Given the description of an element on the screen output the (x, y) to click on. 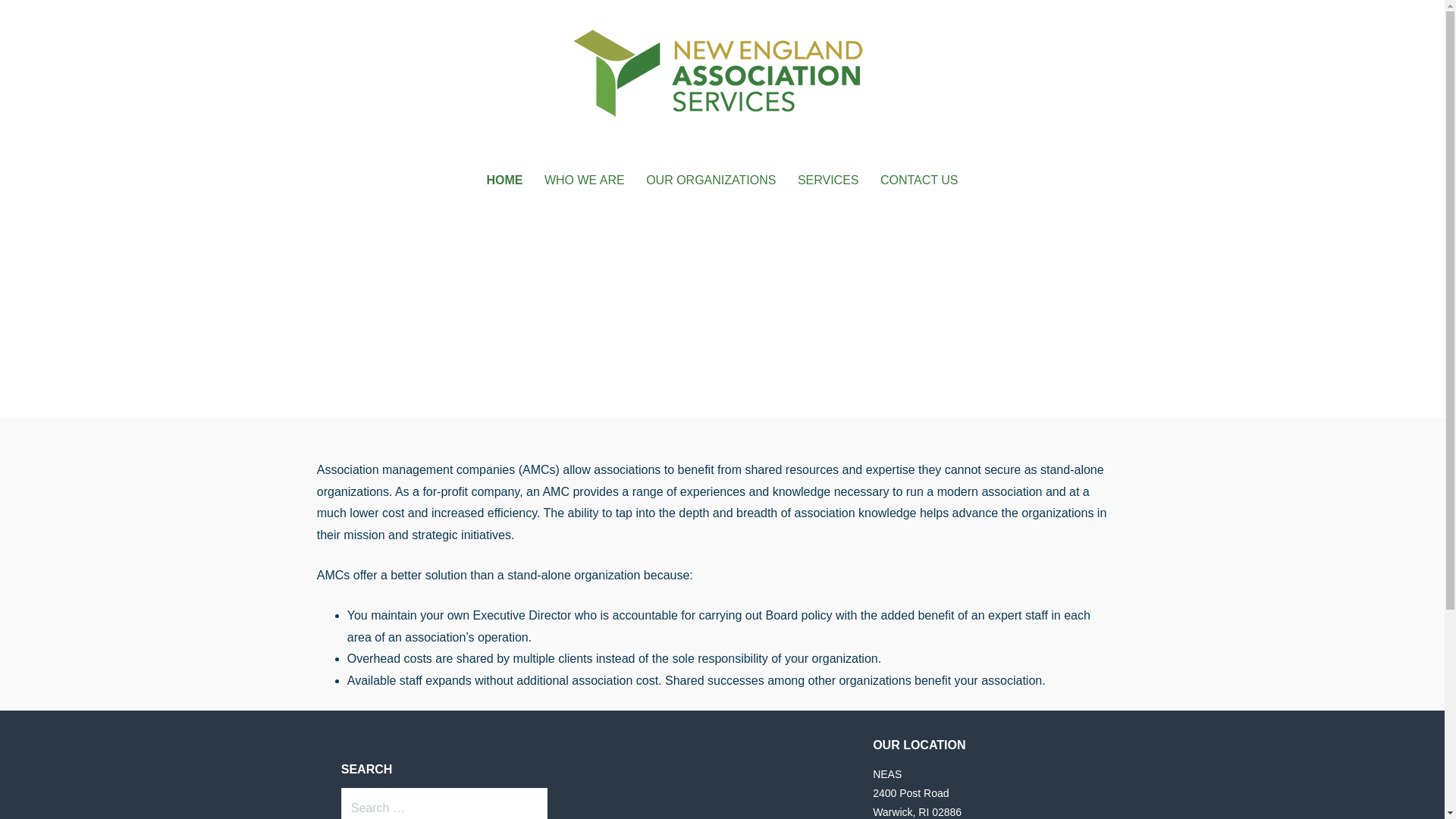
SERVICES (828, 180)
CONTACT US (919, 180)
HOME (504, 180)
WHO WE ARE (584, 180)
OUR ORGANIZATIONS (710, 180)
Search (42, 18)
